Given the description of an element on the screen output the (x, y) to click on. 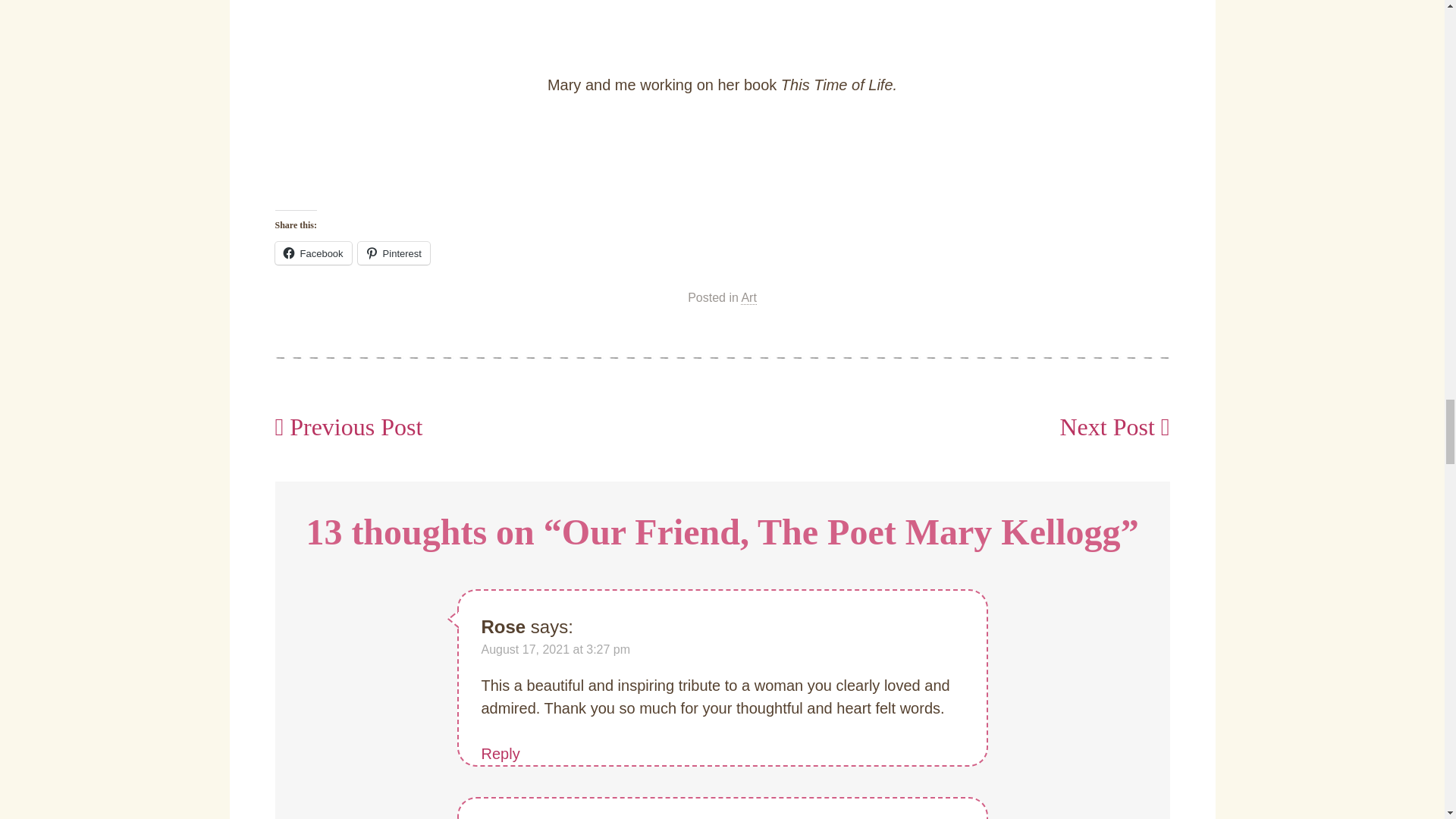
Art (748, 297)
Pinterest (393, 252)
Reply (499, 753)
August 17, 2021 at 3:27 pm (555, 649)
Next Post (1114, 426)
Facebook (312, 252)
Click to share on Pinterest (393, 252)
Click to share on Facebook (312, 252)
Previous Post (348, 426)
